Given the description of an element on the screen output the (x, y) to click on. 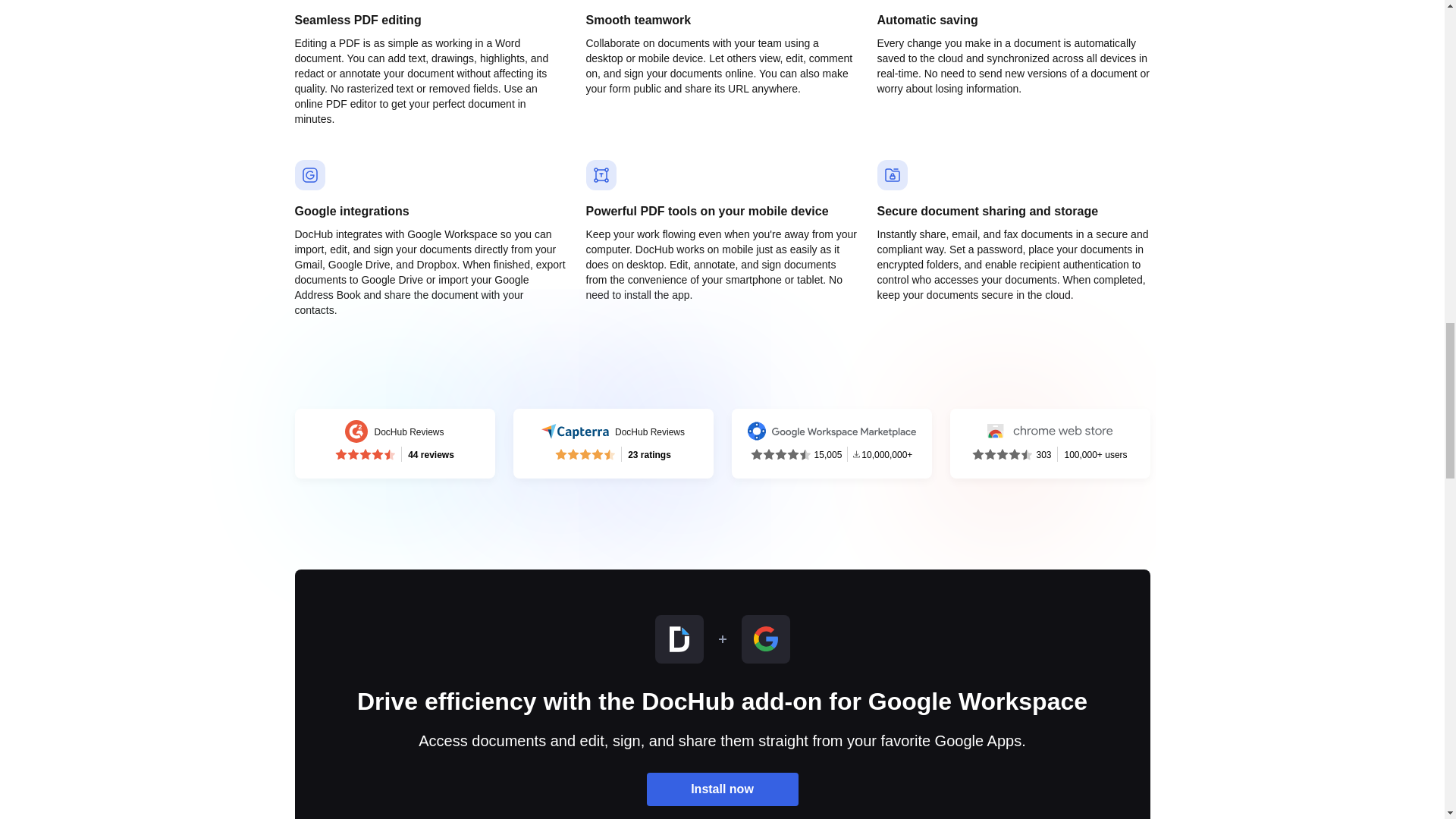
Install now (721, 789)
